Given the description of an element on the screen output the (x, y) to click on. 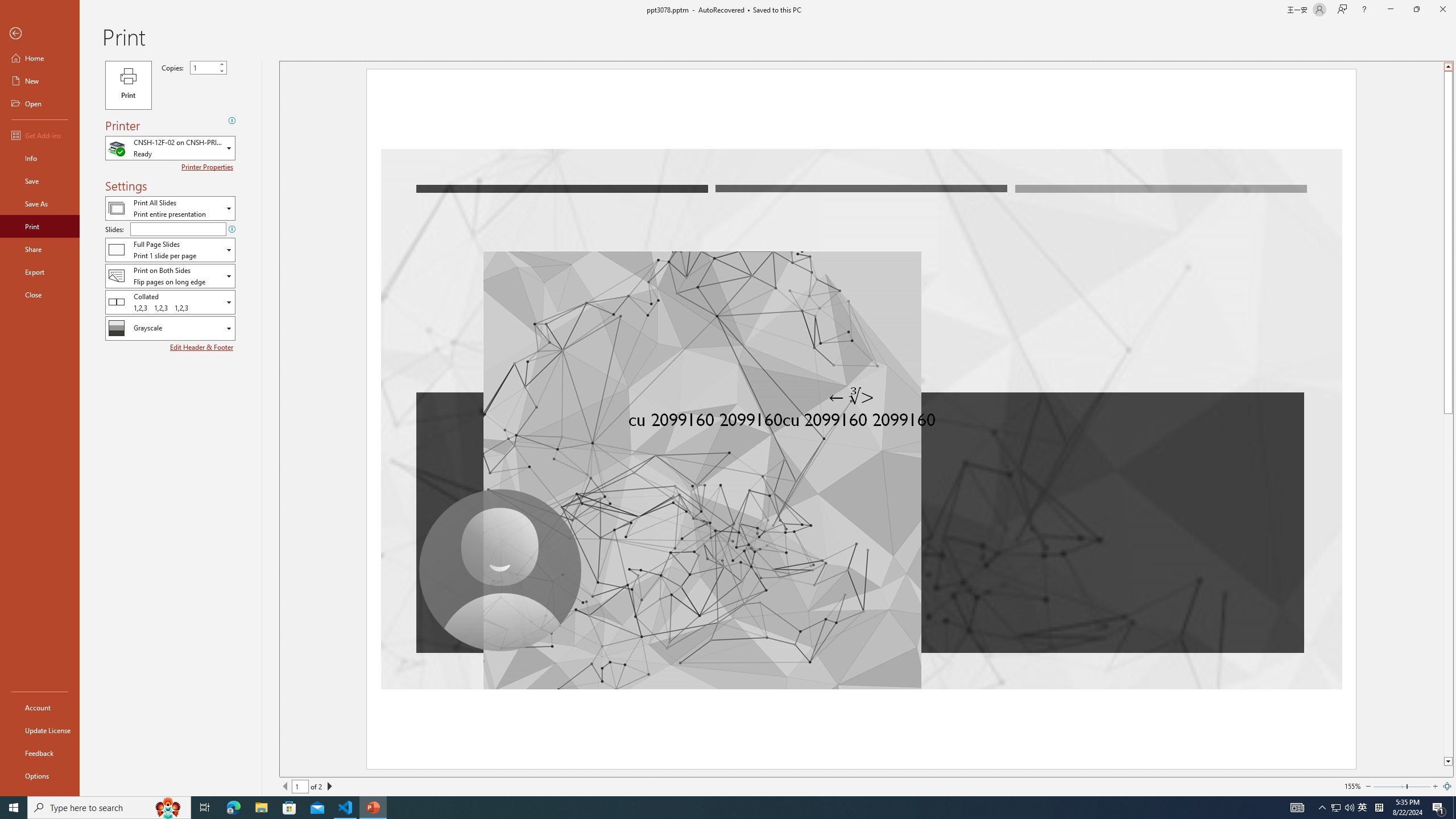
Page 1 content (719, 416)
